Given the description of an element on the screen output the (x, y) to click on. 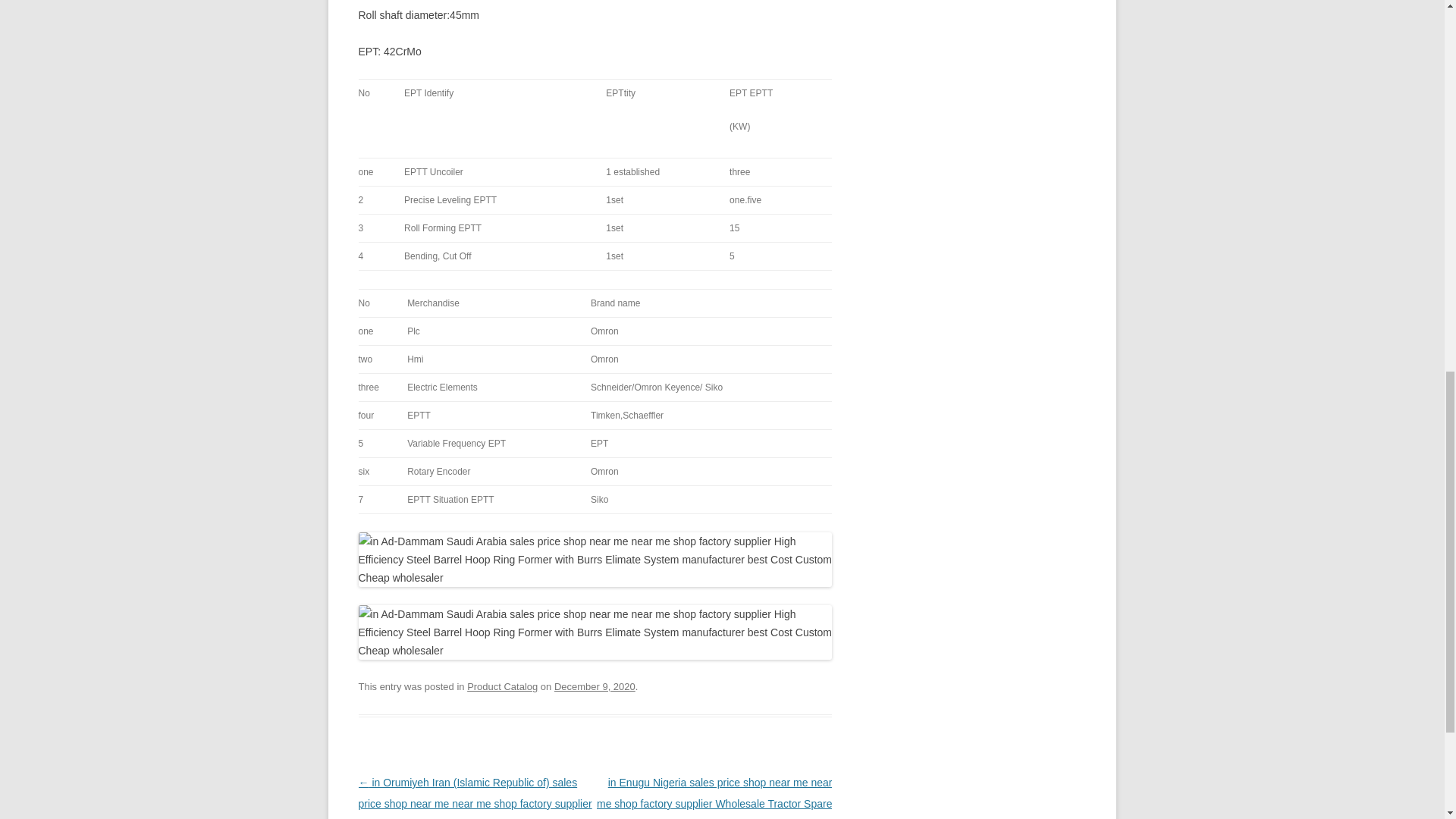
December 9, 2020 (594, 686)
Product Catalog (502, 686)
4:40 pm (594, 686)
